Given the description of an element on the screen output the (x, y) to click on. 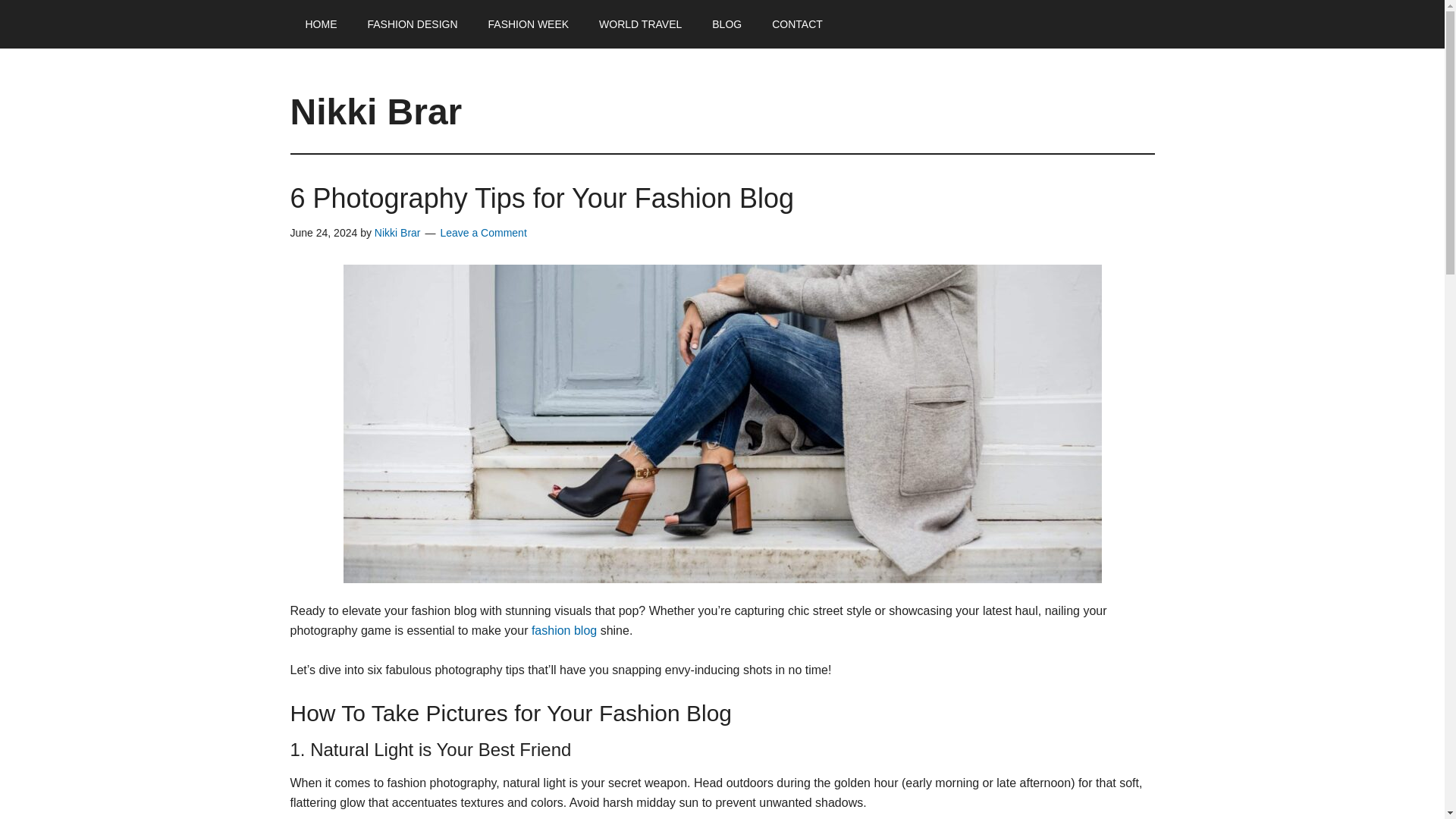
WORLD TRAVEL (640, 24)
HOME (320, 24)
fashion blog (563, 630)
CONTACT (797, 24)
Leave a Comment (482, 232)
FASHION DESIGN (411, 24)
FASHION WEEK (529, 24)
Nikki Brar (397, 232)
BLOG (727, 24)
